Given the description of an element on the screen output the (x, y) to click on. 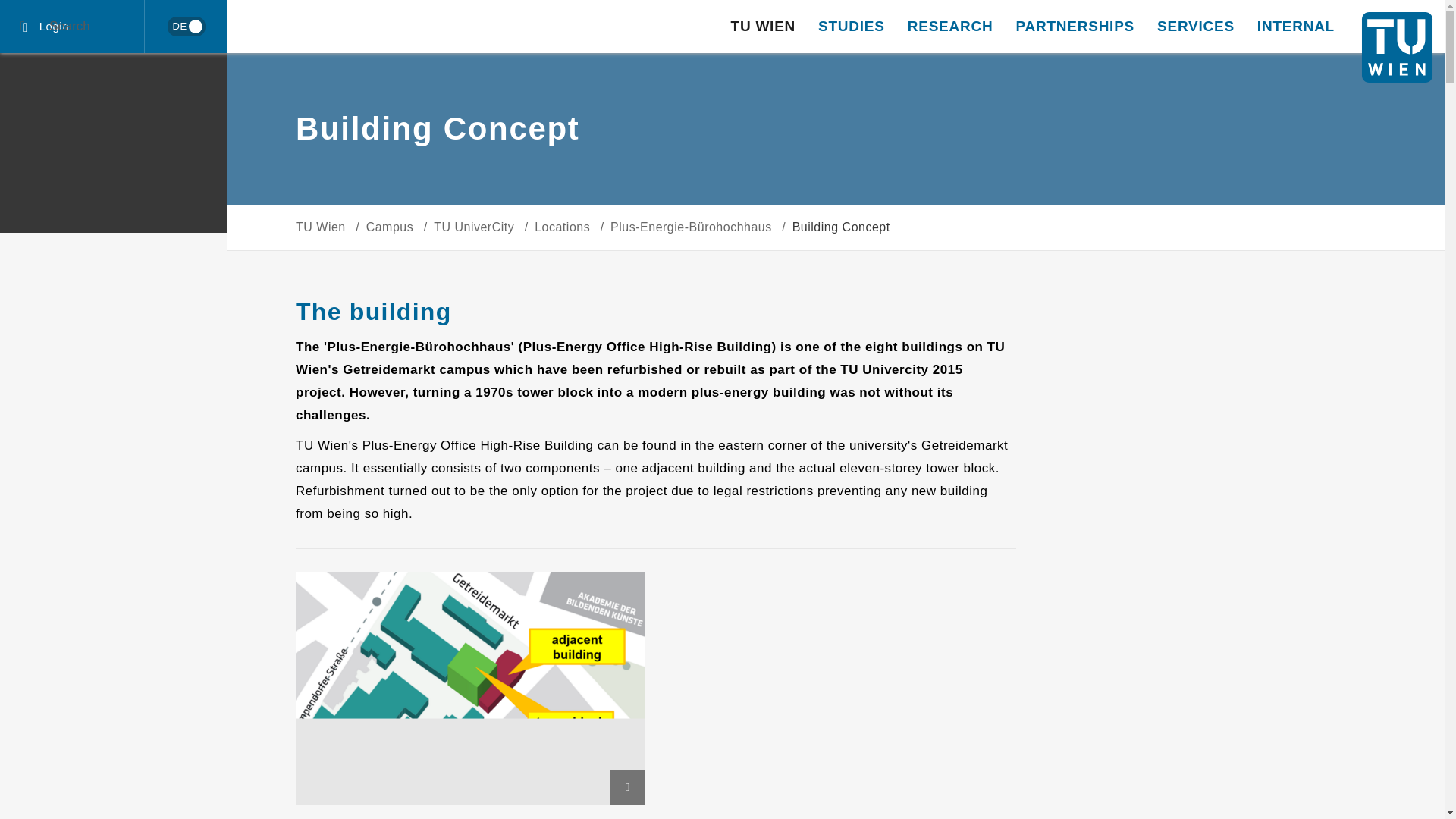
TU Wien - homepage (1396, 47)
TU WIEN (763, 26)
STUDIES (851, 26)
Enlarge image (627, 787)
DE (185, 26)
RESEARCH (950, 26)
Wechseln zu Deutsch (186, 26)
Login (72, 26)
